Given the description of an element on the screen output the (x, y) to click on. 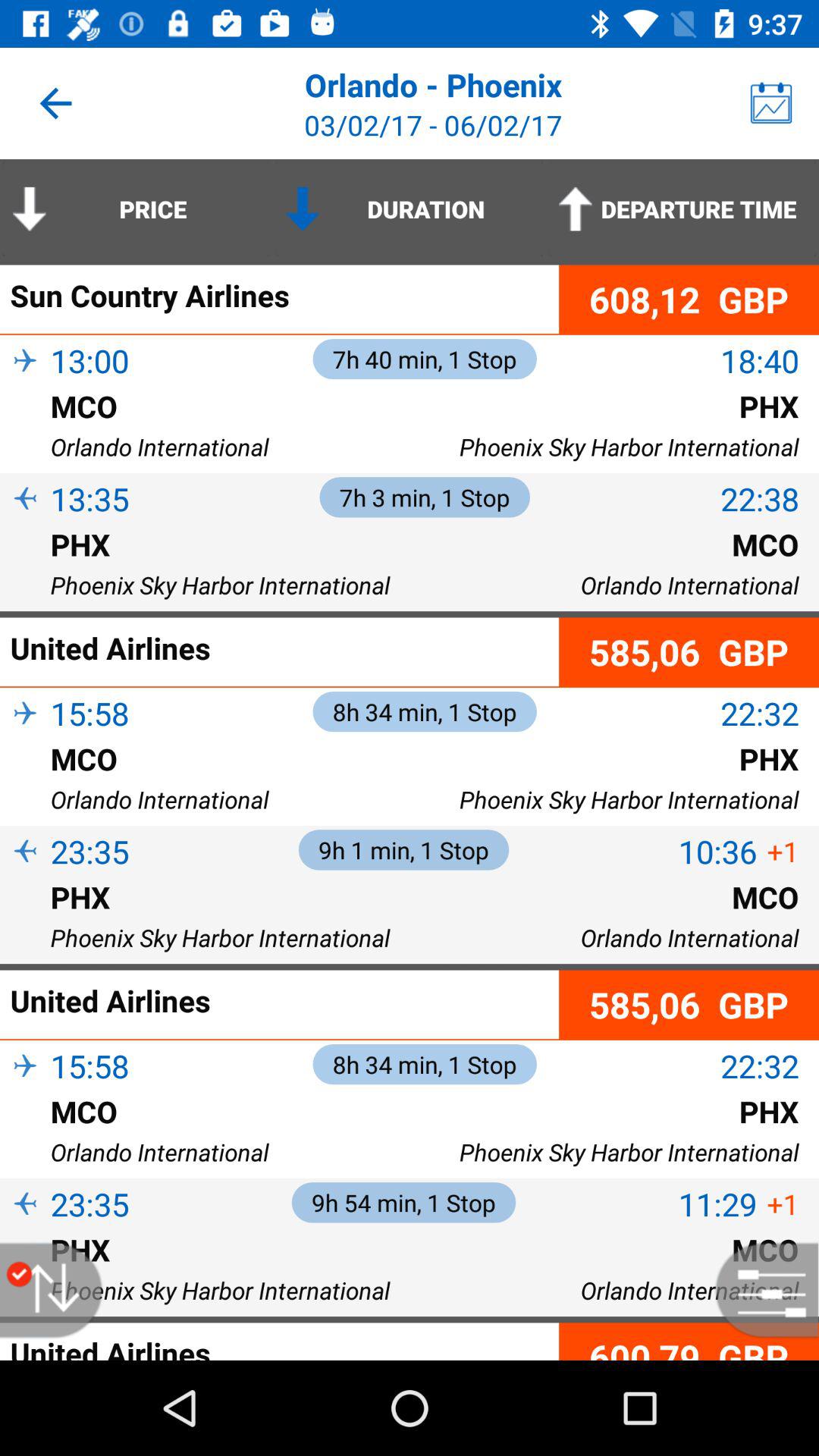
launch item next to the phx (25, 568)
